Given the description of an element on the screen output the (x, y) to click on. 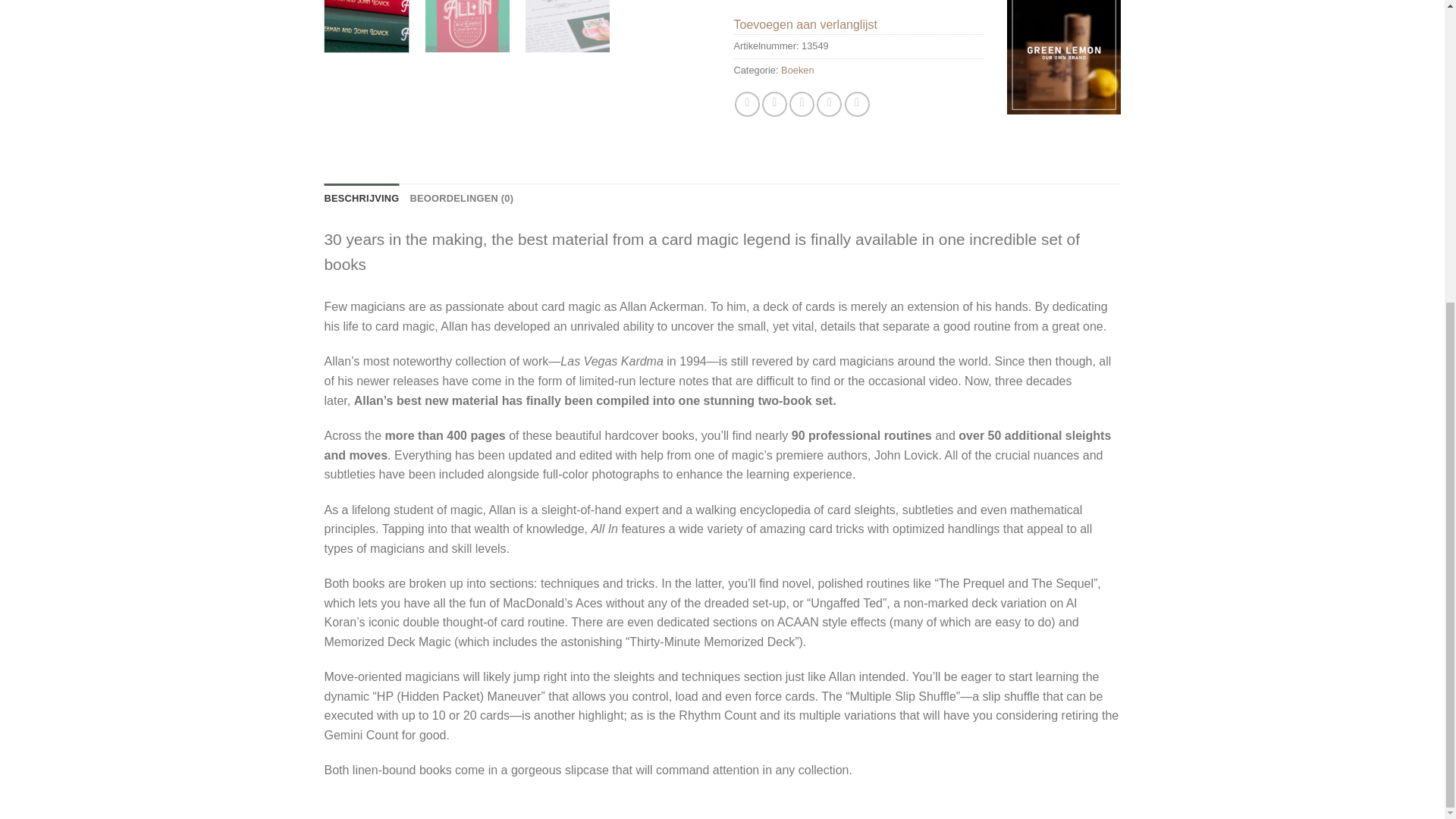
Deel op Facebook (747, 104)
